Given the description of an element on the screen output the (x, y) to click on. 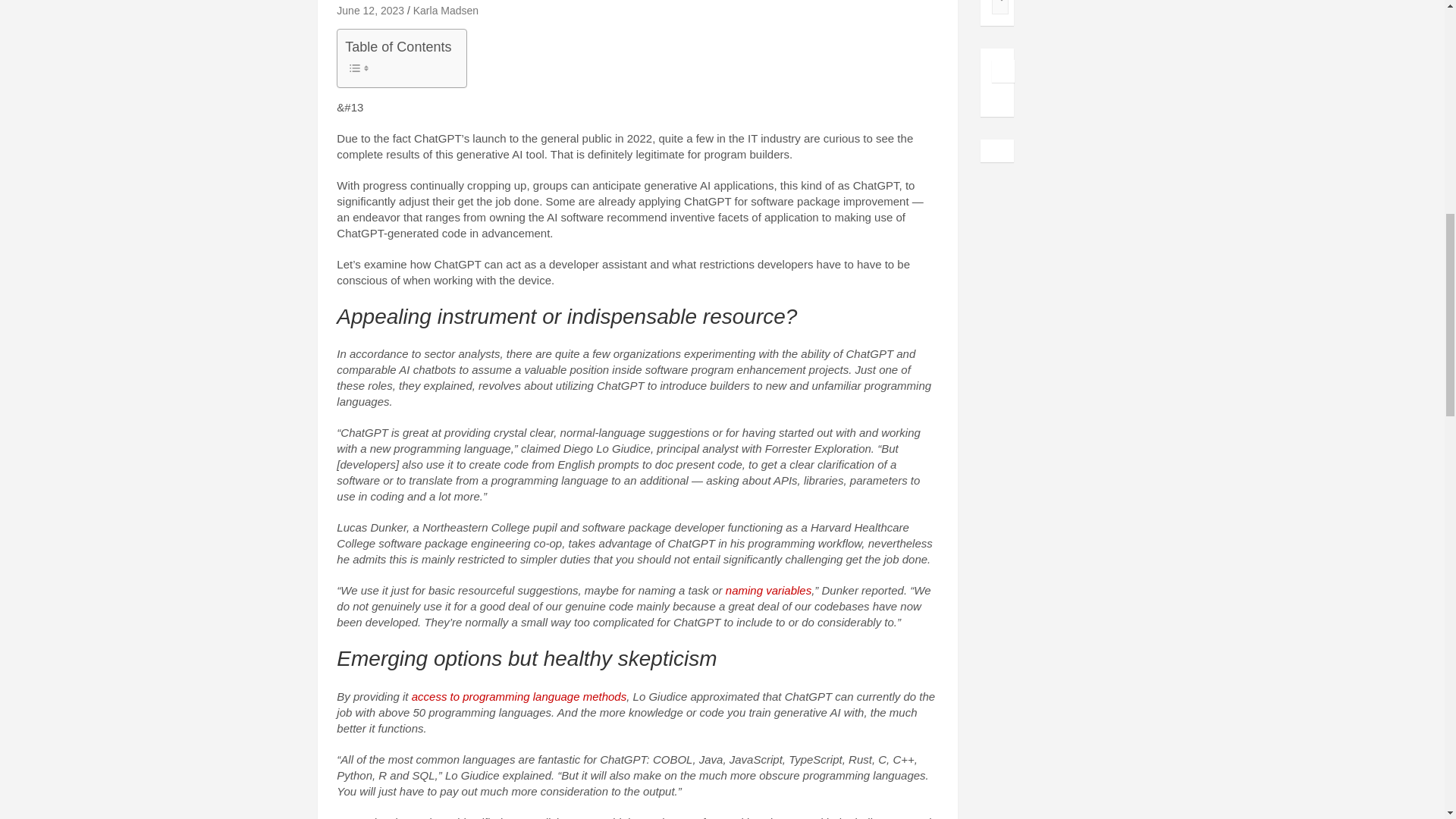
Karla Madsen (446, 10)
The emerging usability of ChatGPT in software development (370, 10)
access to programming language methods (519, 696)
June 12, 2023 (370, 10)
naming variables (767, 590)
